Given the description of an element on the screen output the (x, y) to click on. 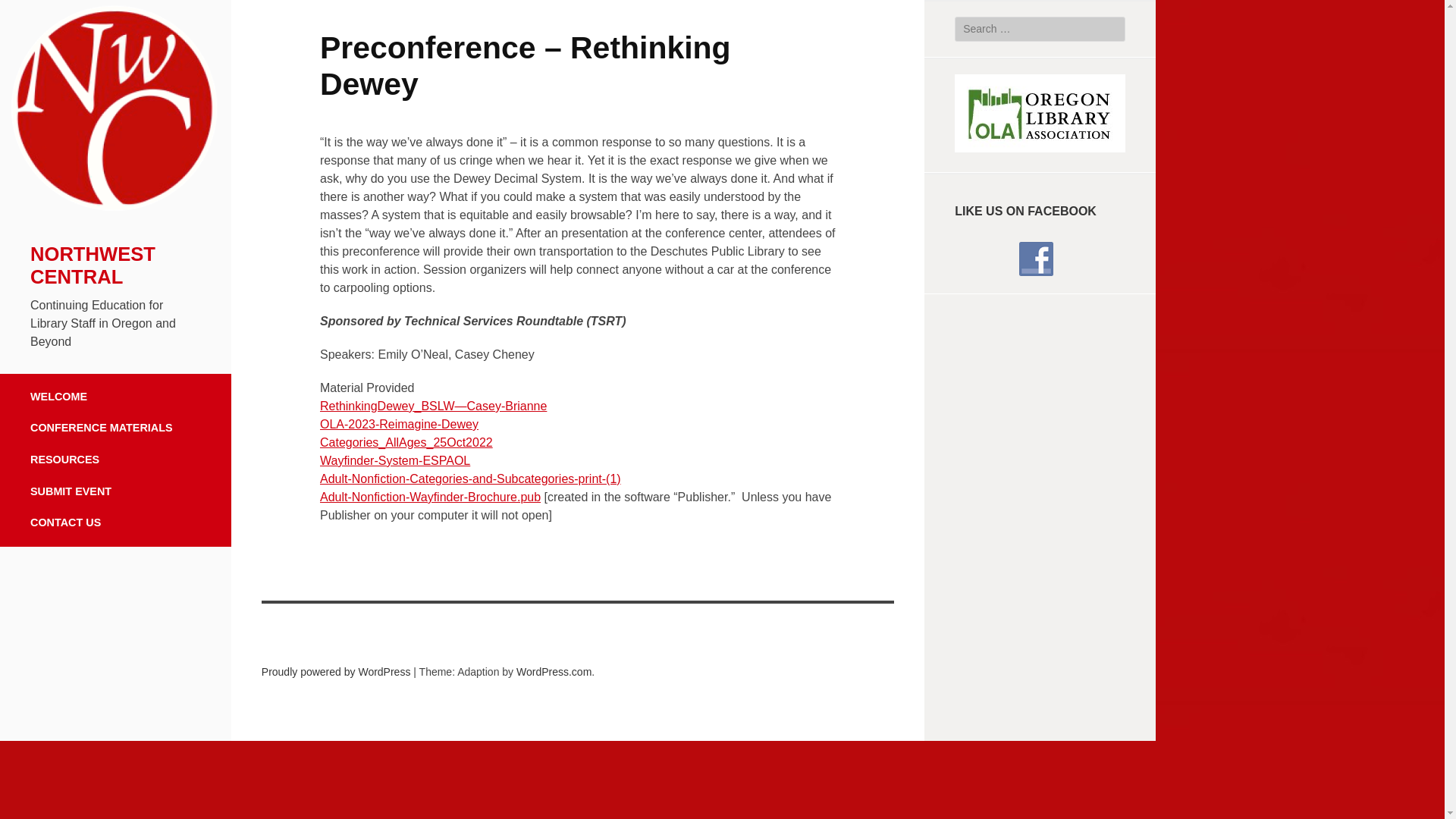
RESOURCES (115, 459)
Proudly powered by WordPress (336, 671)
WELCOME (115, 393)
WordPress.com (553, 671)
Wayfinder-System-ESPAOL (395, 460)
SUBMIT EVENT (115, 491)
CONTACT US (115, 526)
Follow Us on Facebook (1035, 258)
NORTHWEST CENTRAL (92, 265)
CONFERENCE MATERIALS (115, 428)
Search (27, 13)
Adult-Nonfiction-Wayfinder-Brochure.pub (430, 496)
Northwest Central (115, 218)
OLA-2023-Reimagine-Dewey (399, 423)
